Given the description of an element on the screen output the (x, y) to click on. 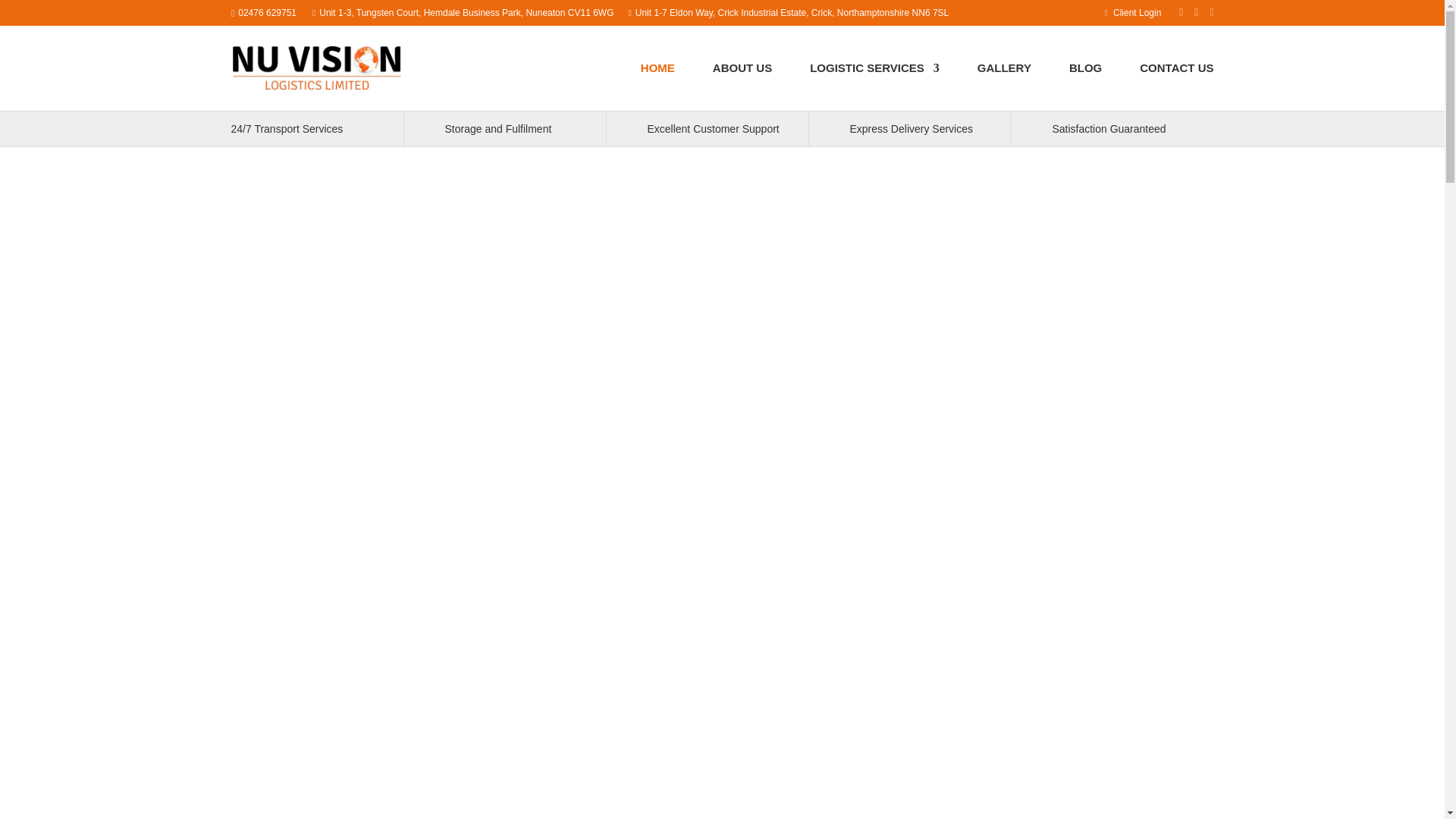
CONTACT US (1176, 83)
GALLERY (1003, 83)
LOGISTIC SERVICES (874, 83)
02476 629751 (267, 12)
ABOUT US (742, 83)
Client Login (1134, 12)
